Given the description of an element on the screen output the (x, y) to click on. 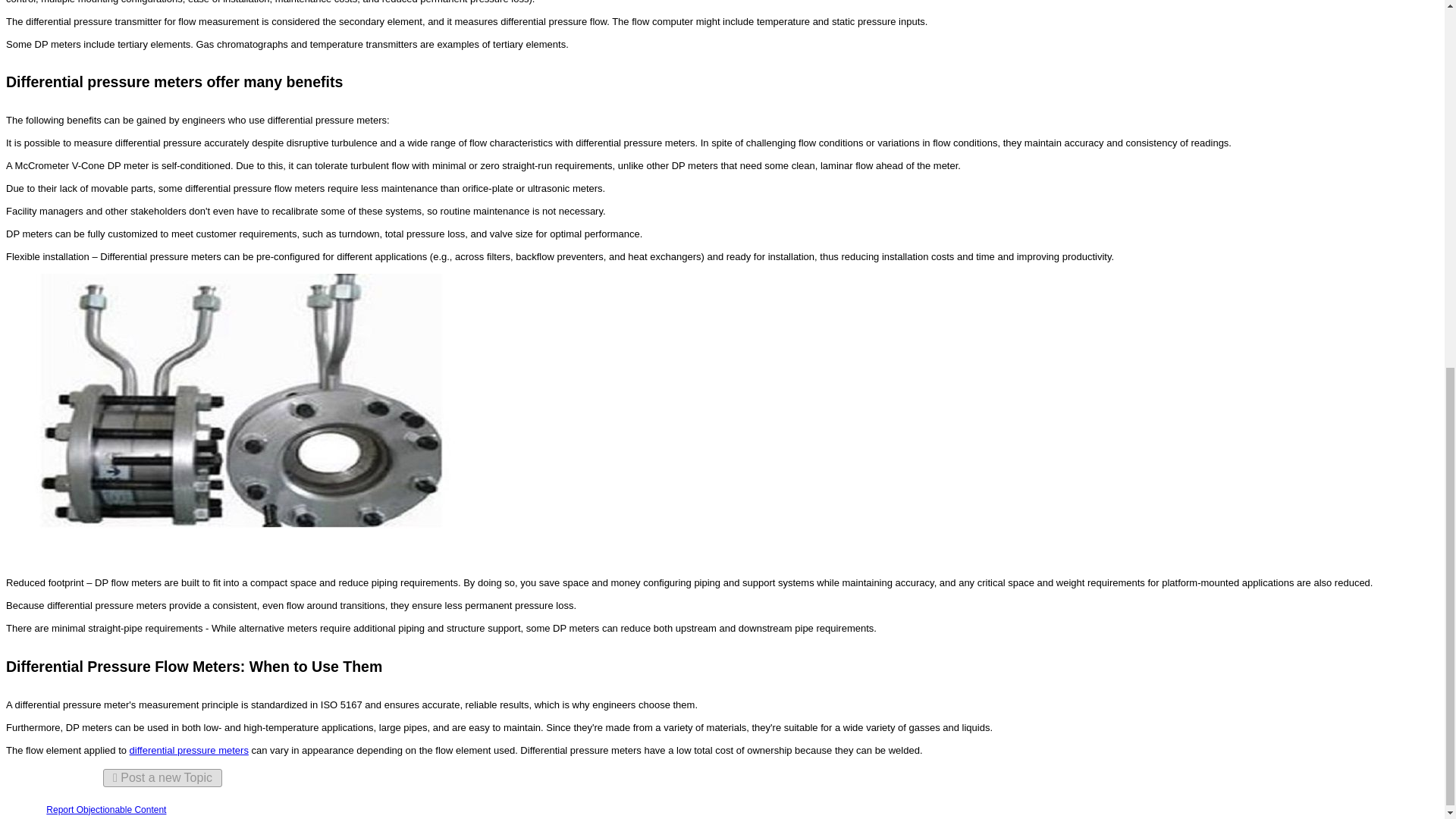
differential pressure meters (188, 749)
Post a new Topic (162, 778)
Report questionable or inappropriate content (105, 809)
Report Objectionable Content (105, 809)
